Given the description of an element on the screen output the (x, y) to click on. 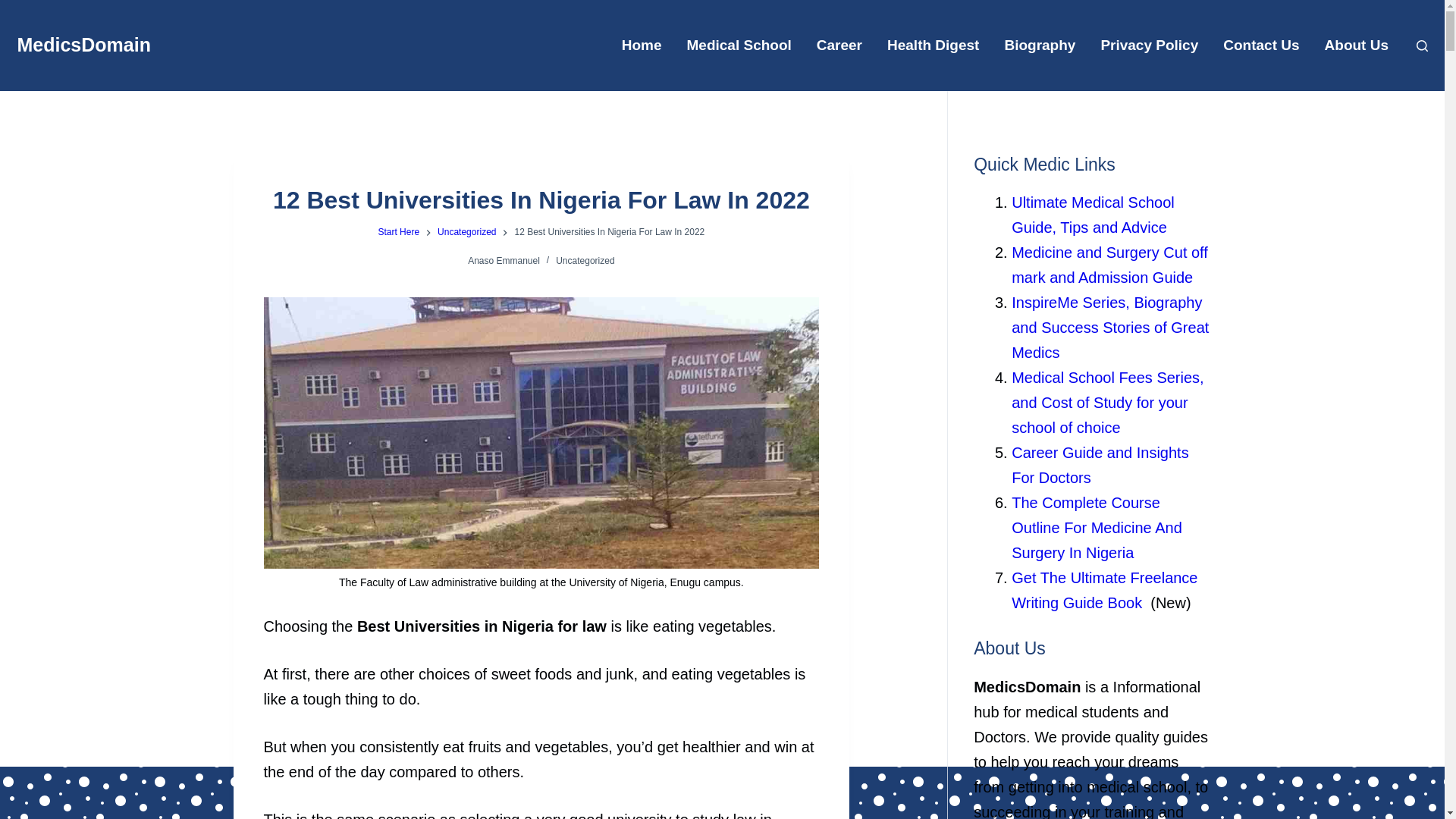
Posts by Anaso Emmanuel (503, 260)
MedicsDomain (82, 44)
Medical School (738, 45)
12 Best Universities In Nigeria For Law In 2022 (541, 199)
Uncategorized (467, 232)
Start Here (398, 232)
Skip to content (15, 7)
About Us (1355, 45)
Anaso Emmanuel (503, 260)
Health Digest (933, 45)
Biography (1039, 45)
Career (839, 45)
Uncategorized (585, 260)
Contact Us (1261, 45)
Home (641, 45)
